Given the description of an element on the screen output the (x, y) to click on. 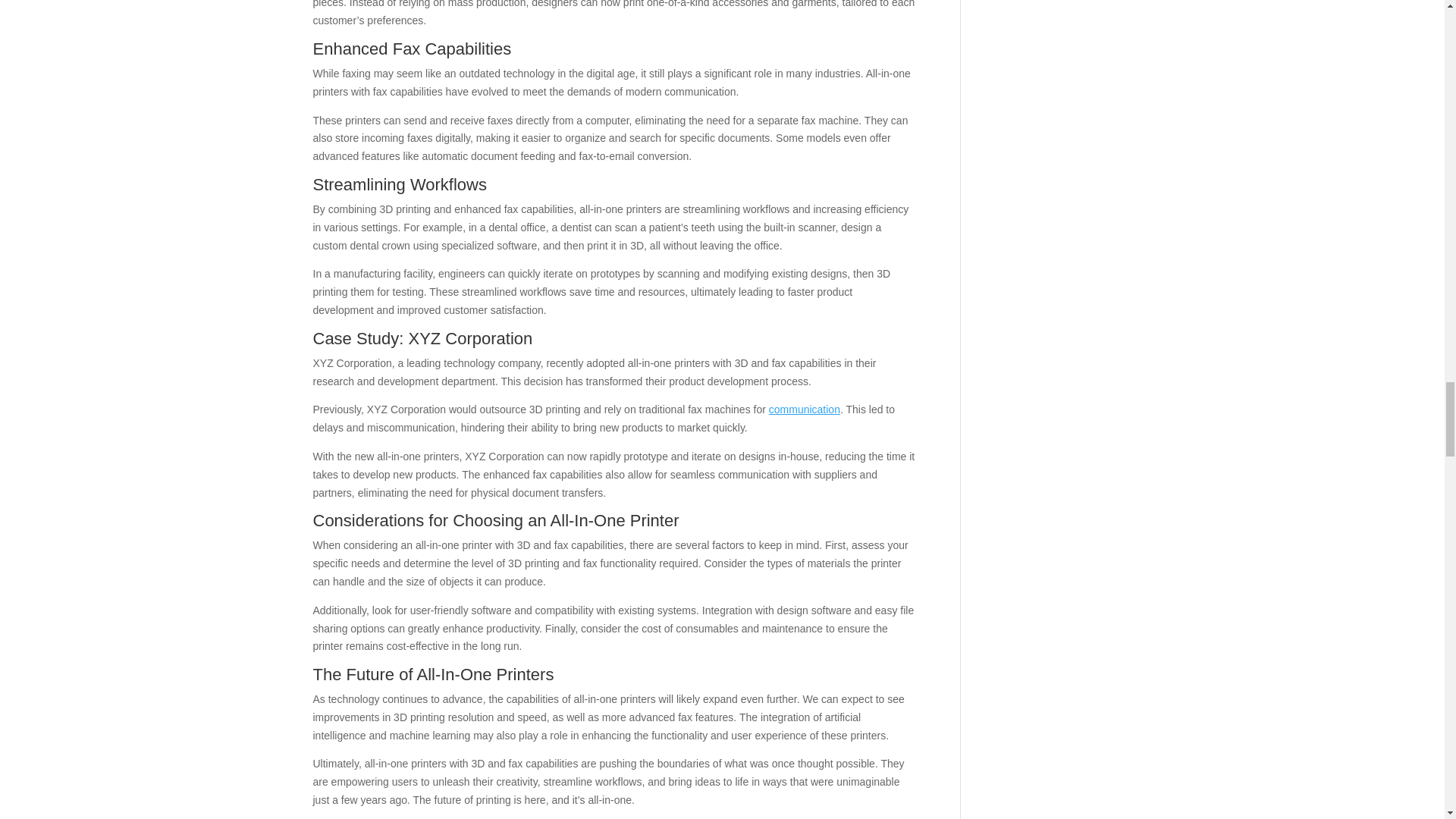
communication (804, 409)
